Given the description of an element on the screen output the (x, y) to click on. 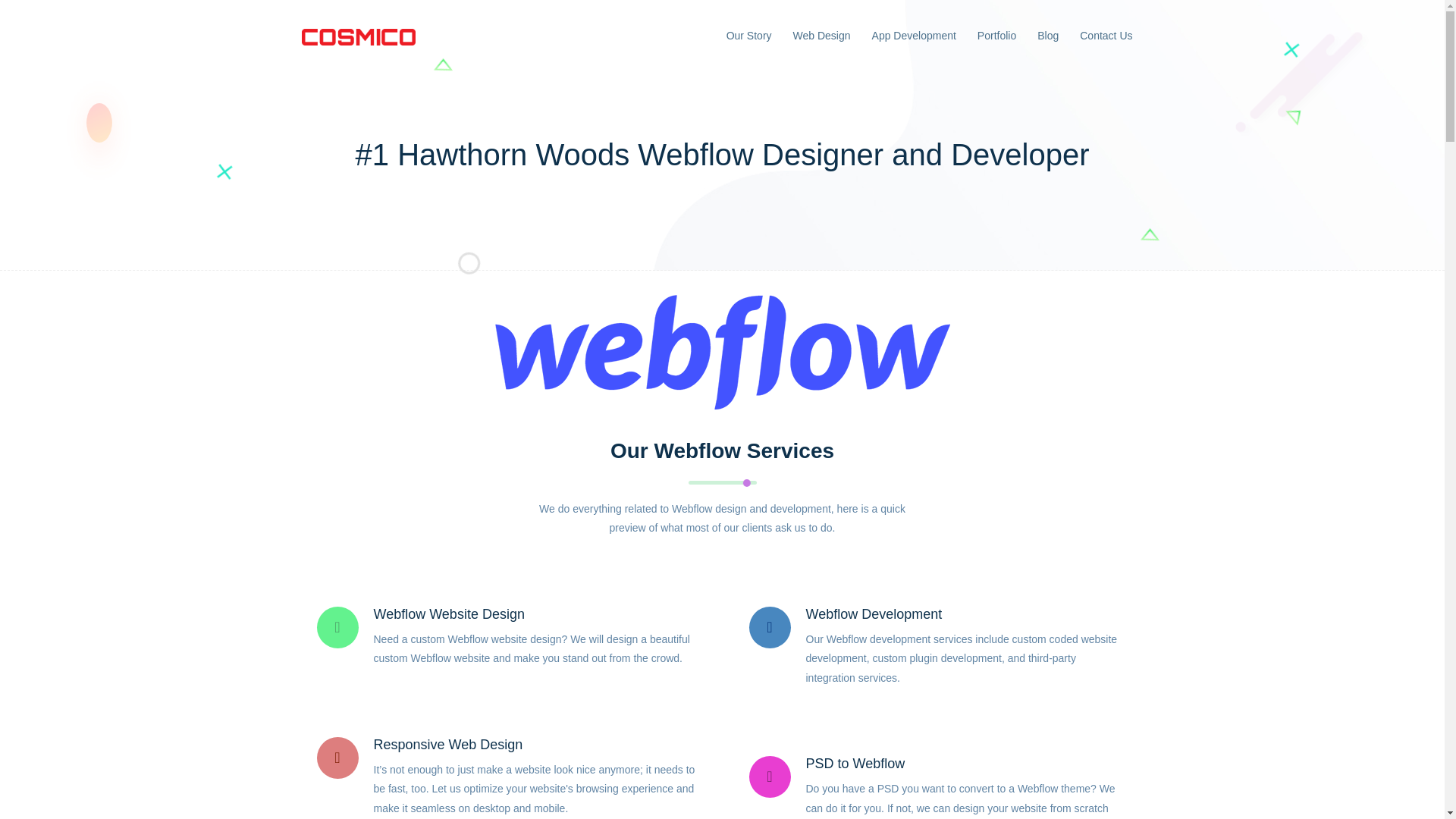
Web Design (821, 35)
App Development (914, 35)
App Development (914, 35)
Contact Us (1106, 35)
Web Design (821, 35)
Our Story (748, 35)
Portfolio (996, 35)
Our Story (748, 35)
Contact Us (1106, 35)
Portfolio (996, 35)
